Given the description of an element on the screen output the (x, y) to click on. 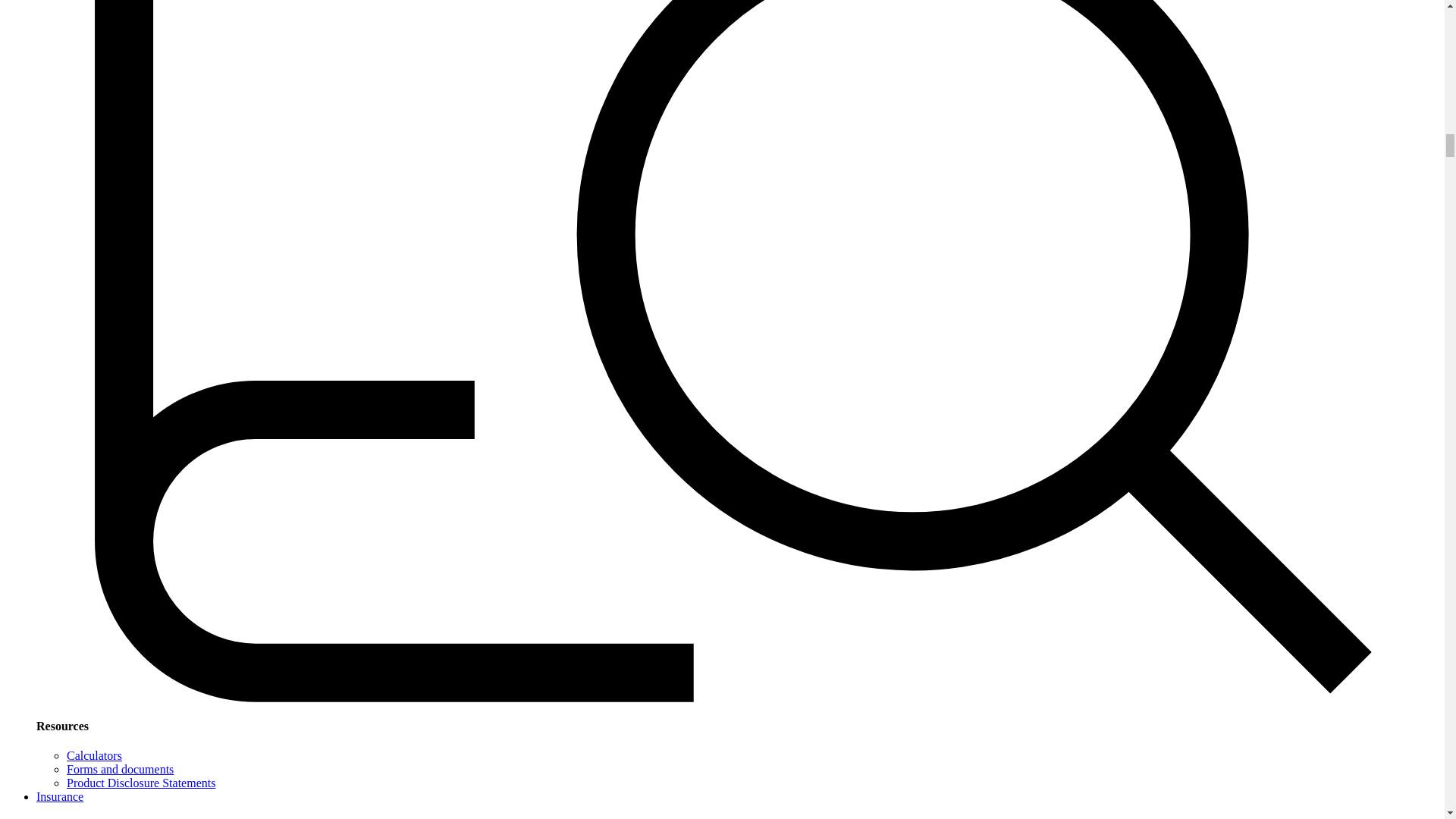
Calculators (94, 755)
